Given the description of an element on the screen output the (x, y) to click on. 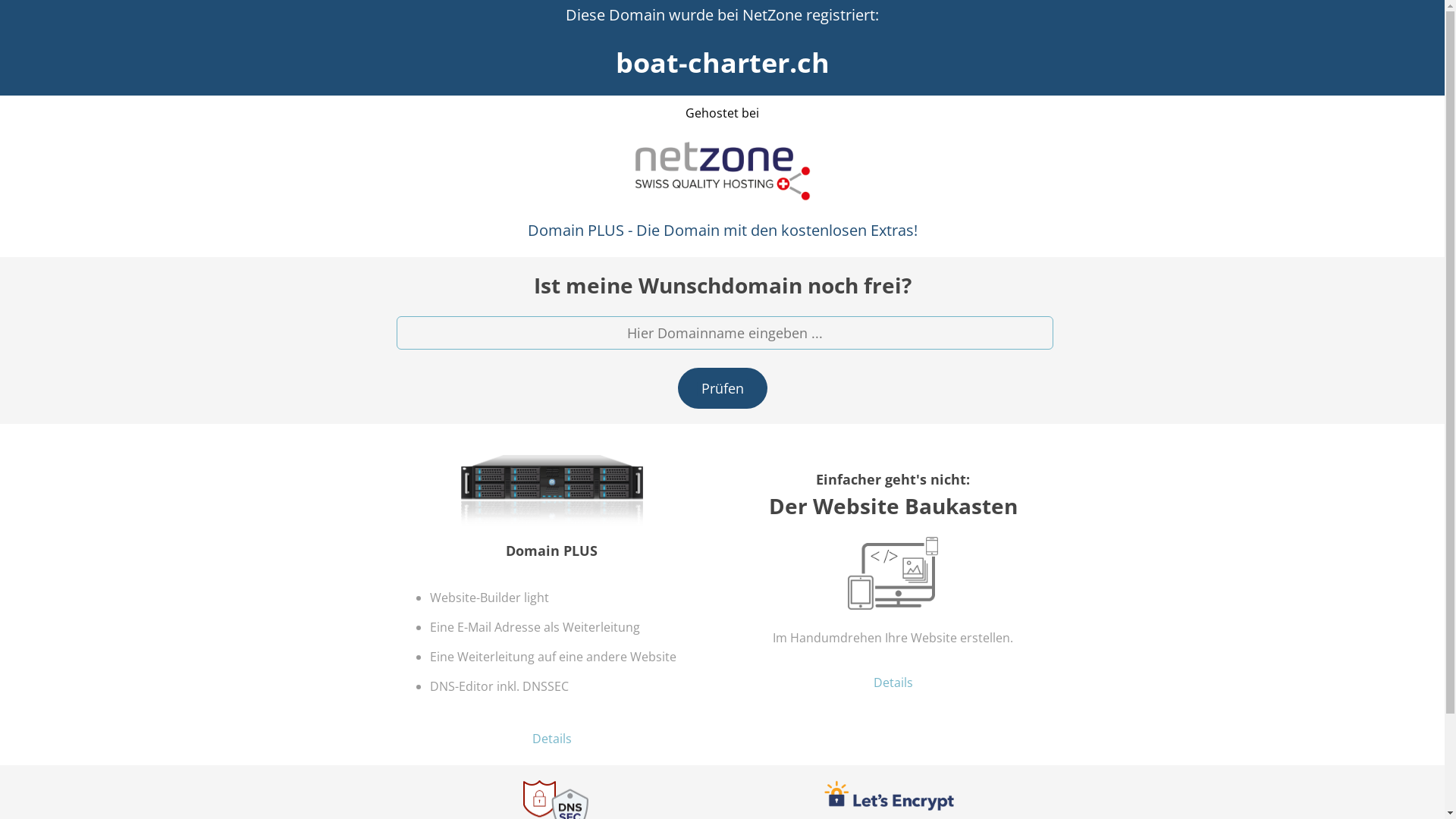
Domain PLUS Element type: hover (552, 498)
Details Element type: text (893, 682)
LetsEncrypt Element type: hover (888, 795)
Details Element type: text (551, 738)
NetZone AG Element type: hover (721, 170)
